Given the description of an element on the screen output the (x, y) to click on. 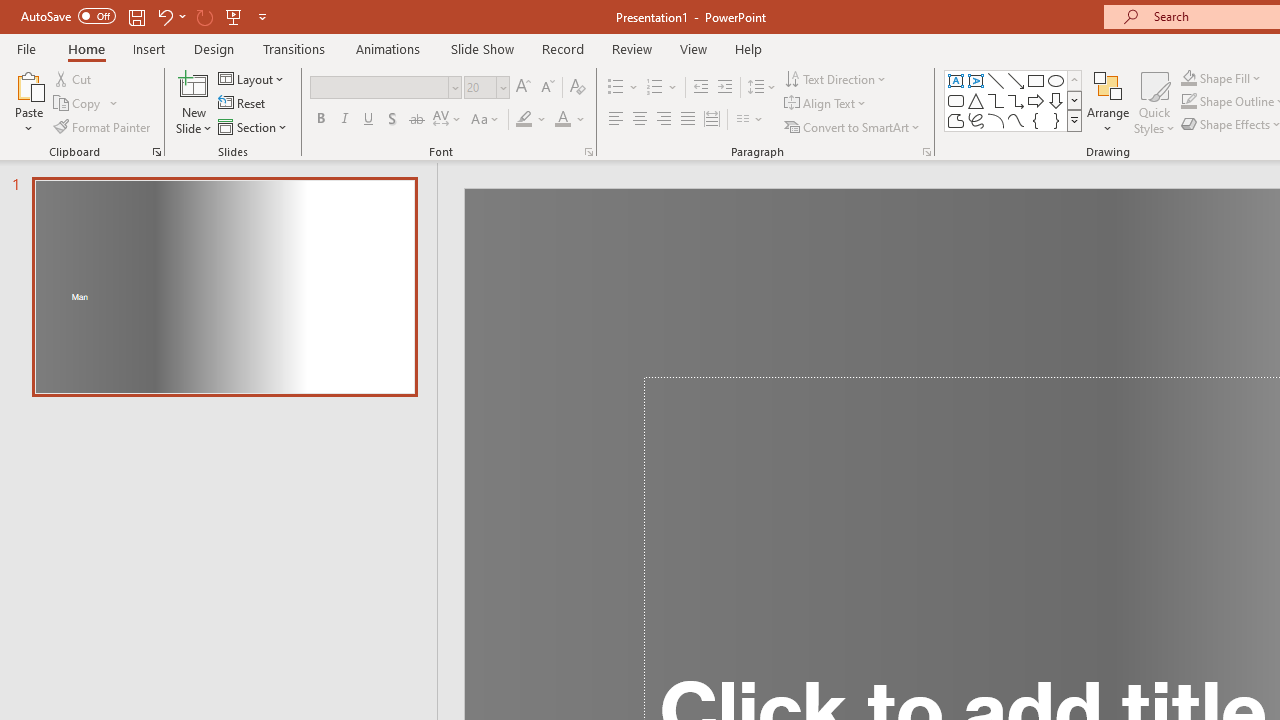
File Tab (26, 48)
Shadow (392, 119)
Arc (995, 120)
Shape Fill Orange, Accent 2 (1188, 78)
Arrange (1108, 102)
Columns (750, 119)
Distributed (712, 119)
Clear Formatting (577, 87)
Oval (1055, 80)
Align Right (663, 119)
Align Text (826, 103)
Office Clipboard... (156, 151)
Row Down (1074, 100)
Rectangle (1035, 80)
